Given the description of an element on the screen output the (x, y) to click on. 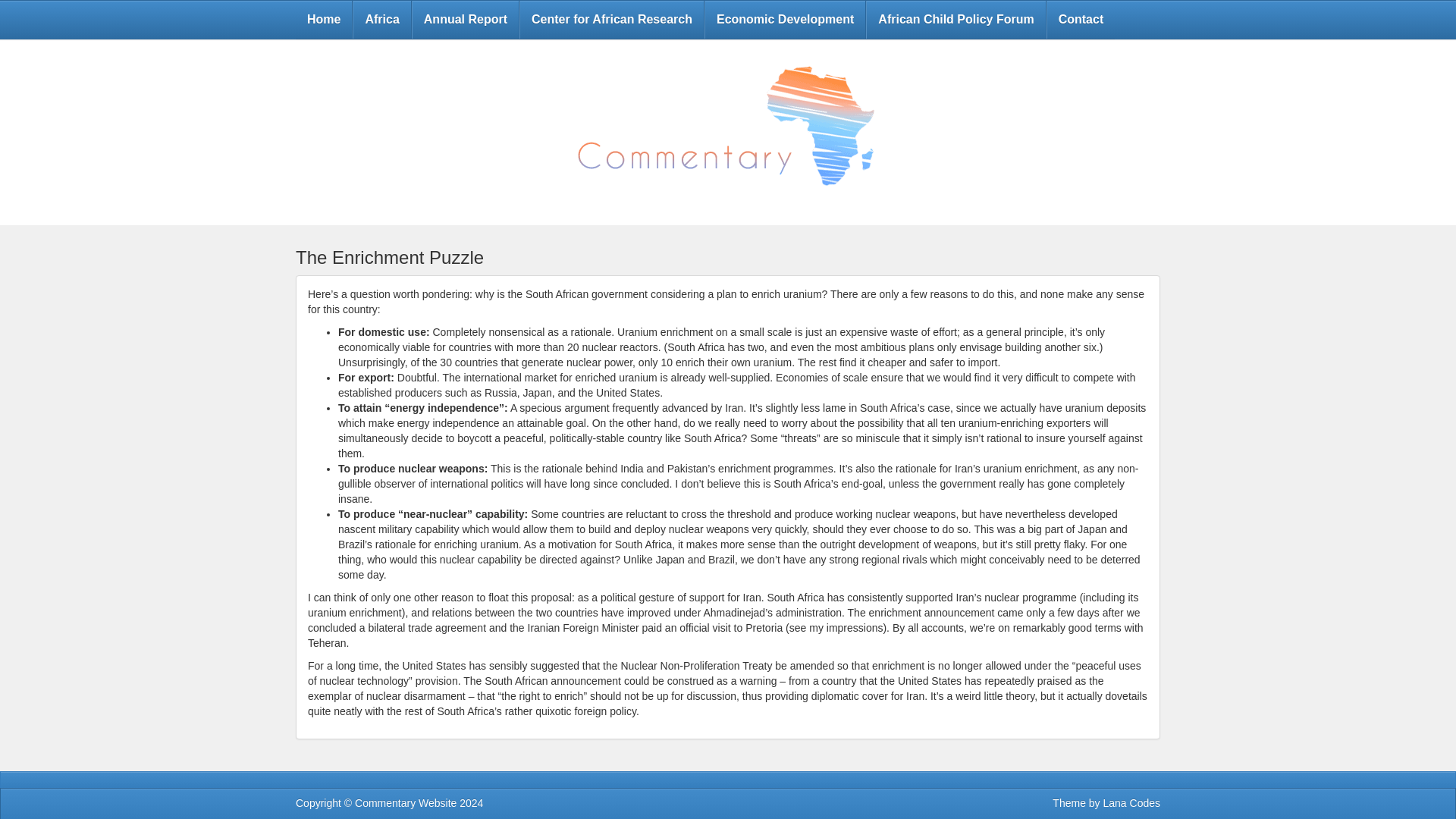
African Child Policy Forum (955, 19)
Lana Codes (1131, 802)
Commentary Website (406, 802)
Home (323, 19)
Economic Development (784, 19)
Africa (381, 19)
Contact (1080, 19)
Annual Report (465, 19)
Center for African Research (611, 19)
